Given the description of an element on the screen output the (x, y) to click on. 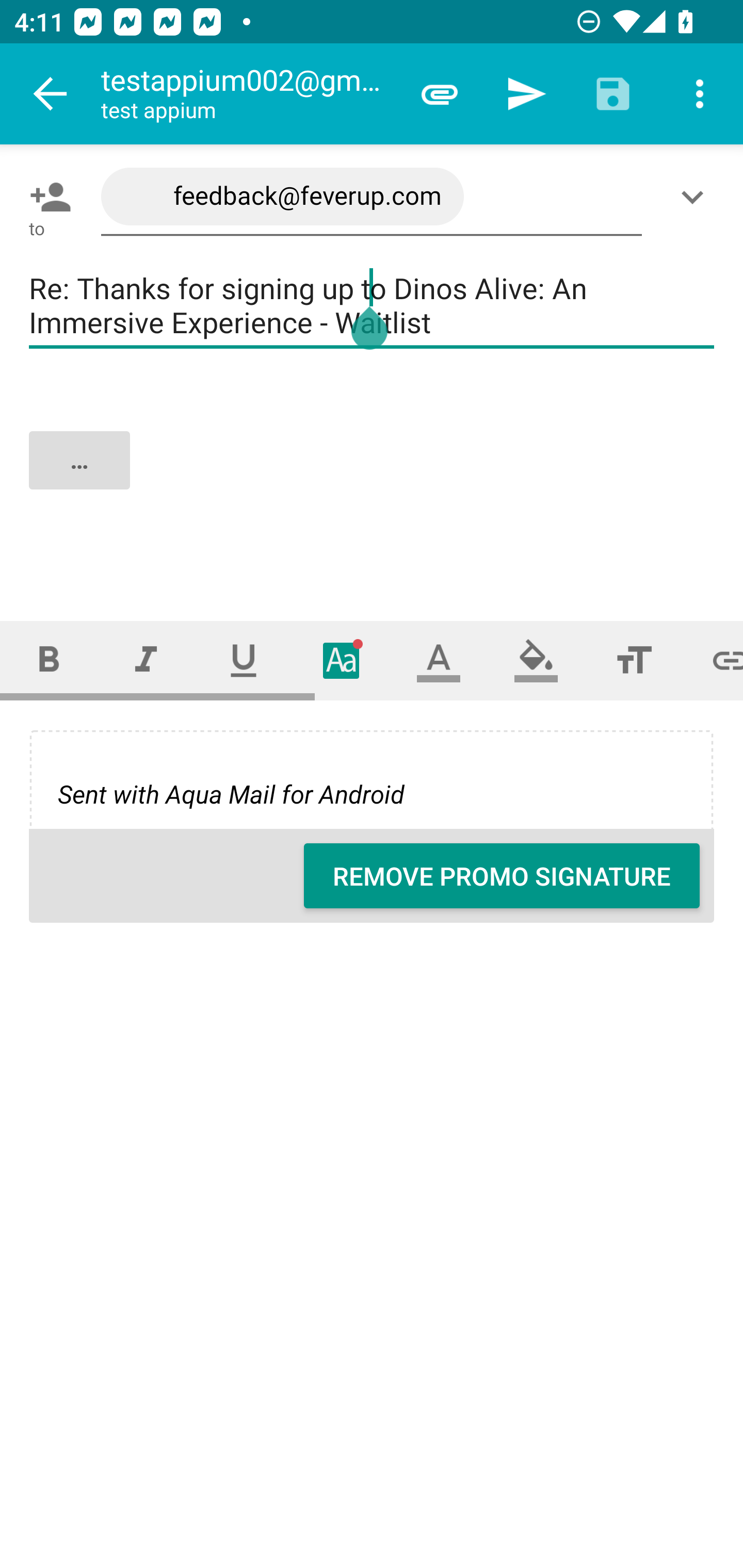
Navigate up (50, 93)
testappium002@gmail.com test appium (248, 93)
Attach (439, 93)
Send (525, 93)
Save (612, 93)
More options (699, 93)
feedback@feverup.com,  (371, 197)
Pick contact: To (46, 196)
Show/Add CC/BCC (696, 196)

…
 (372, 477)
Bold (48, 660)
Italic (145, 660)
Underline (243, 660)
Typeface (font) (341, 660)
Text color (438, 660)
Fill color (536, 660)
Font size (633, 660)
REMOVE PROMO SIGNATURE (501, 875)
